Given the description of an element on the screen output the (x, y) to click on. 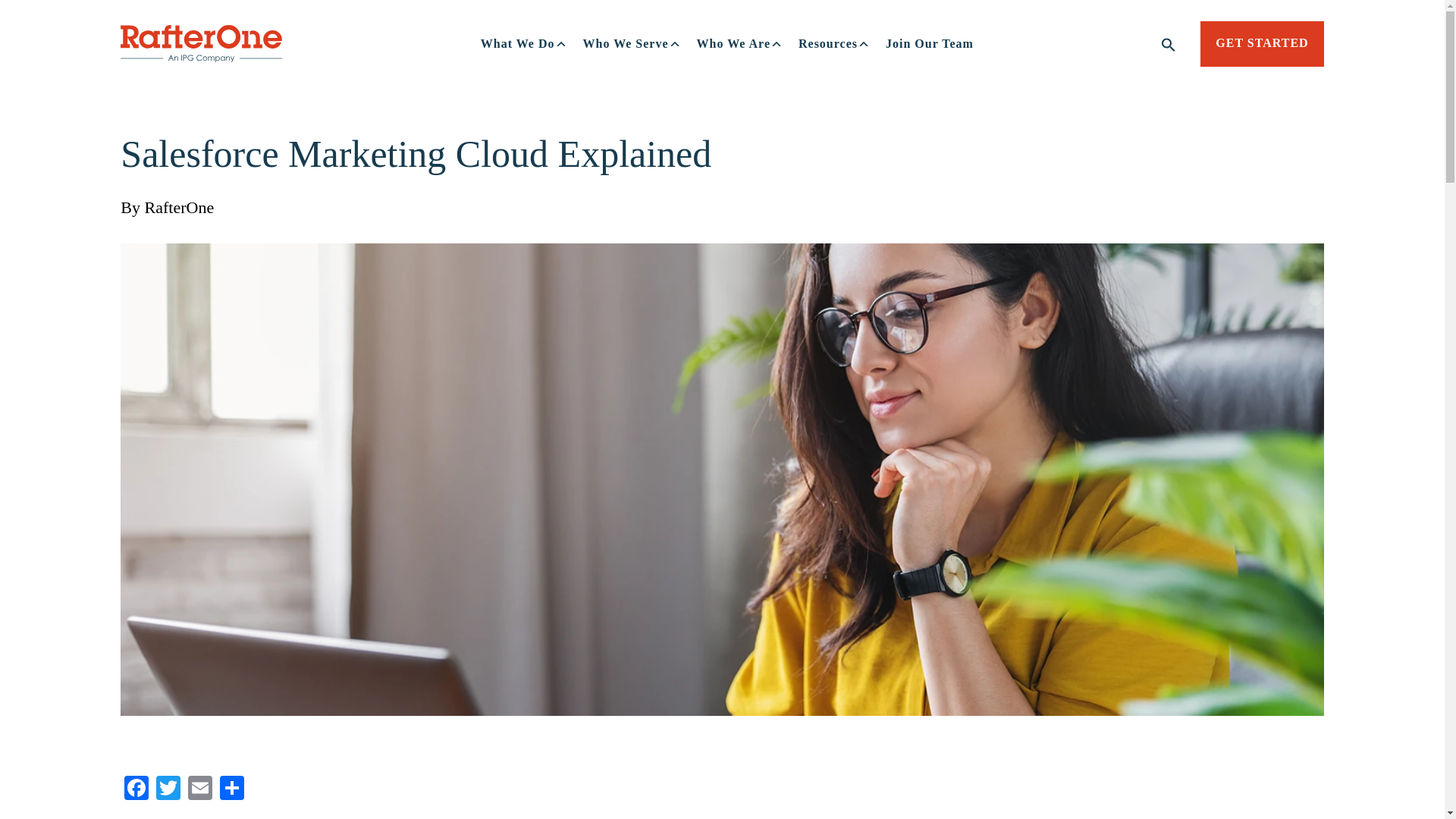
Who We Serve (631, 43)
Email (199, 789)
What We Do (524, 43)
Who We Are (739, 43)
Facebook (136, 789)
Twitter (168, 789)
